Given the description of an element on the screen output the (x, y) to click on. 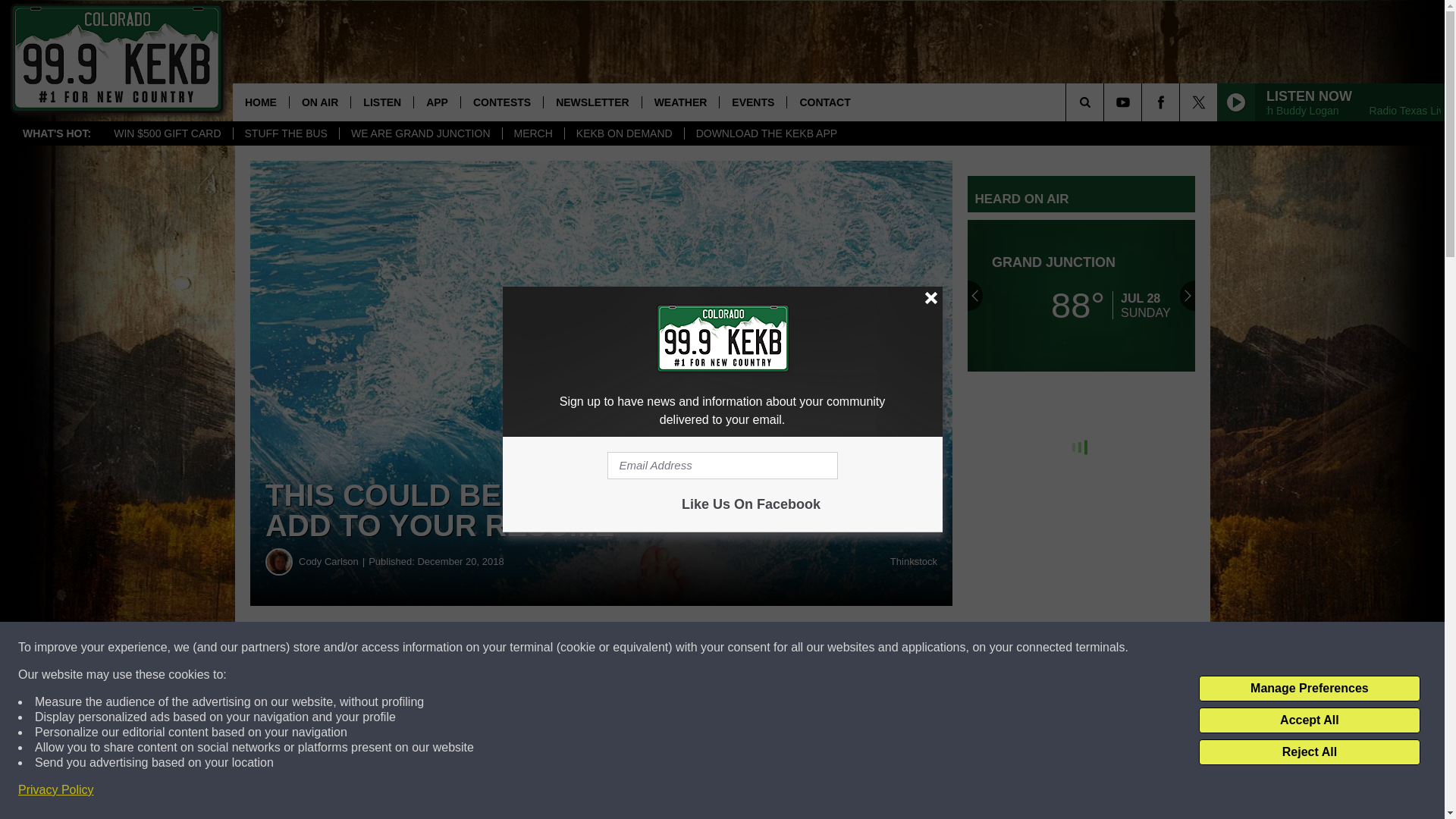
Email Address (722, 465)
Grand Junction Weather (1081, 295)
Manage Preferences (1309, 688)
Accept All (1309, 720)
MERCH (533, 133)
CONTESTS (501, 102)
Privacy Policy (55, 789)
KEKB ON DEMAND (624, 133)
HOME (260, 102)
WE ARE GRAND JUNCTION (420, 133)
DOWNLOAD THE KEKB APP (766, 133)
Share on Facebook (460, 647)
SEARCH (1106, 102)
ON AIR (319, 102)
LISTEN (381, 102)
